Given the description of an element on the screen output the (x, y) to click on. 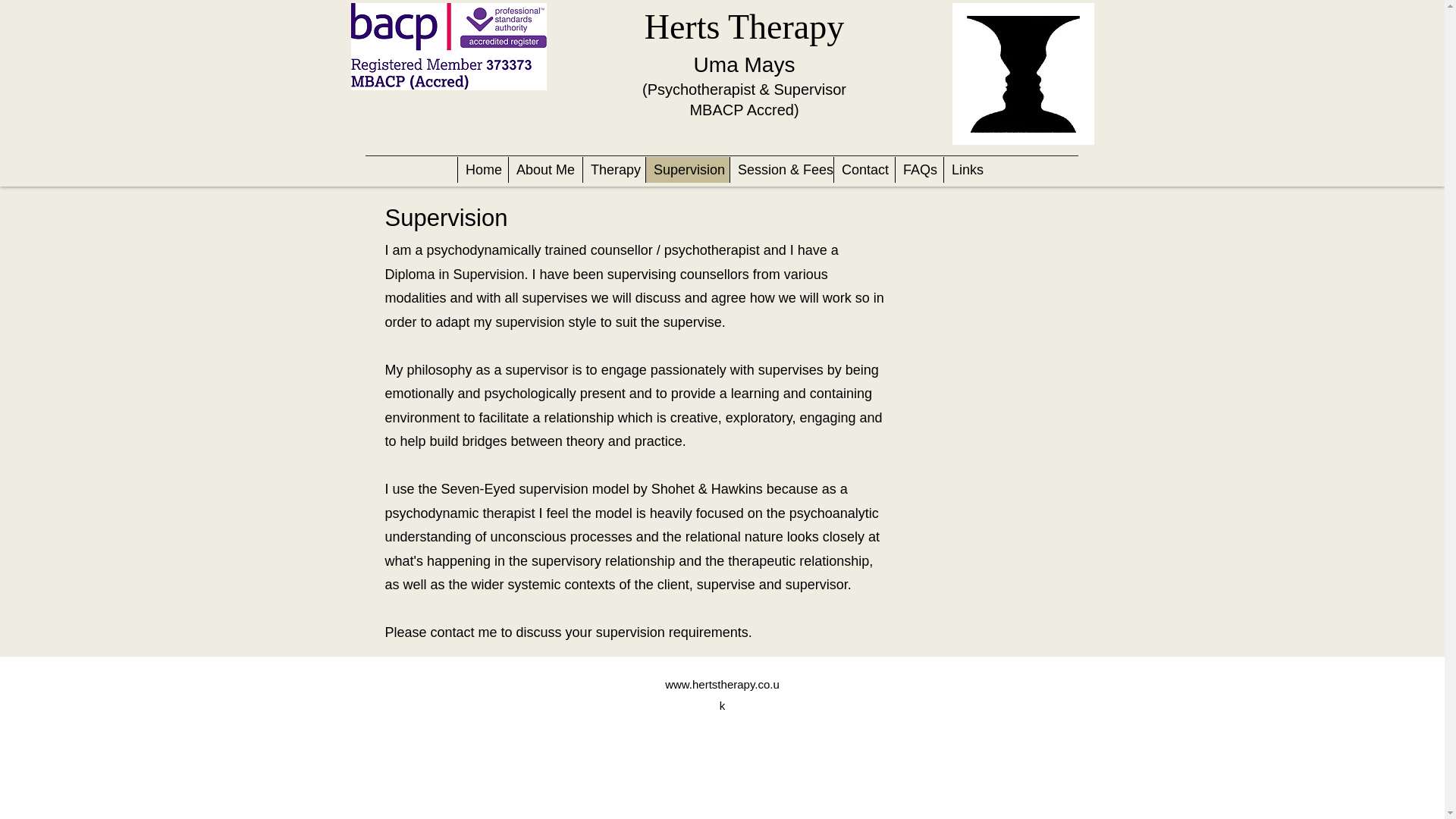
Therapy (613, 169)
BACP Logo - 373373.png (448, 46)
FAQs (919, 169)
bb58bfb9-7b6e-4df7-9d8b-ea8431a33f6c.jpg (1023, 73)
Contact (863, 169)
Home (482, 169)
Links (965, 169)
www.hertstherapy.co.uk (721, 694)
Supervision (687, 169)
About Me (545, 169)
